Given the description of an element on the screen output the (x, y) to click on. 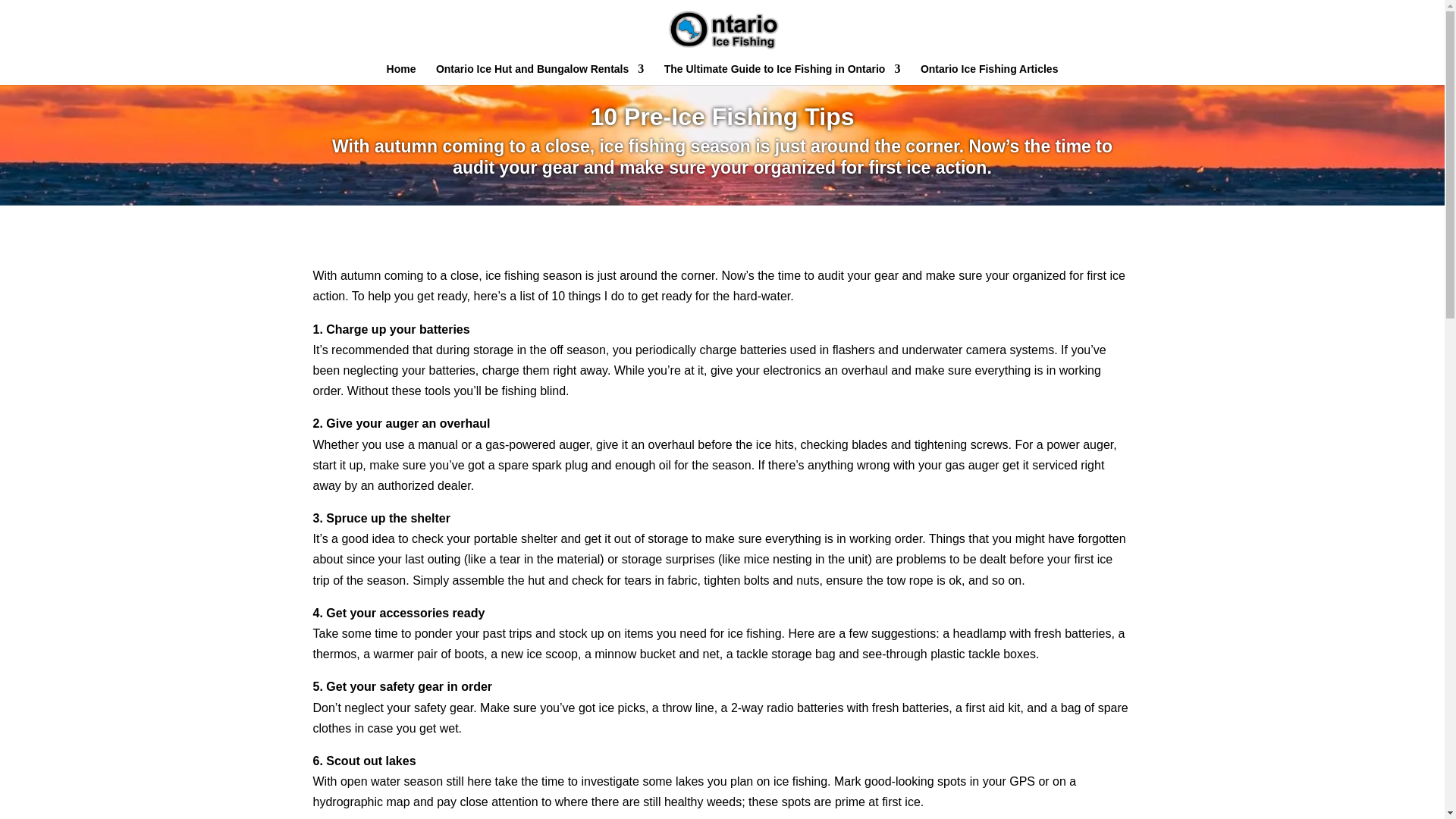
The Ultimate Guide to Ice Fishing in Ontario (782, 74)
Ontario Ice Fishing Articles (989, 74)
Ontario Ice Hut and Bungalow Rentals (539, 74)
Home (401, 74)
